Given the description of an element on the screen output the (x, y) to click on. 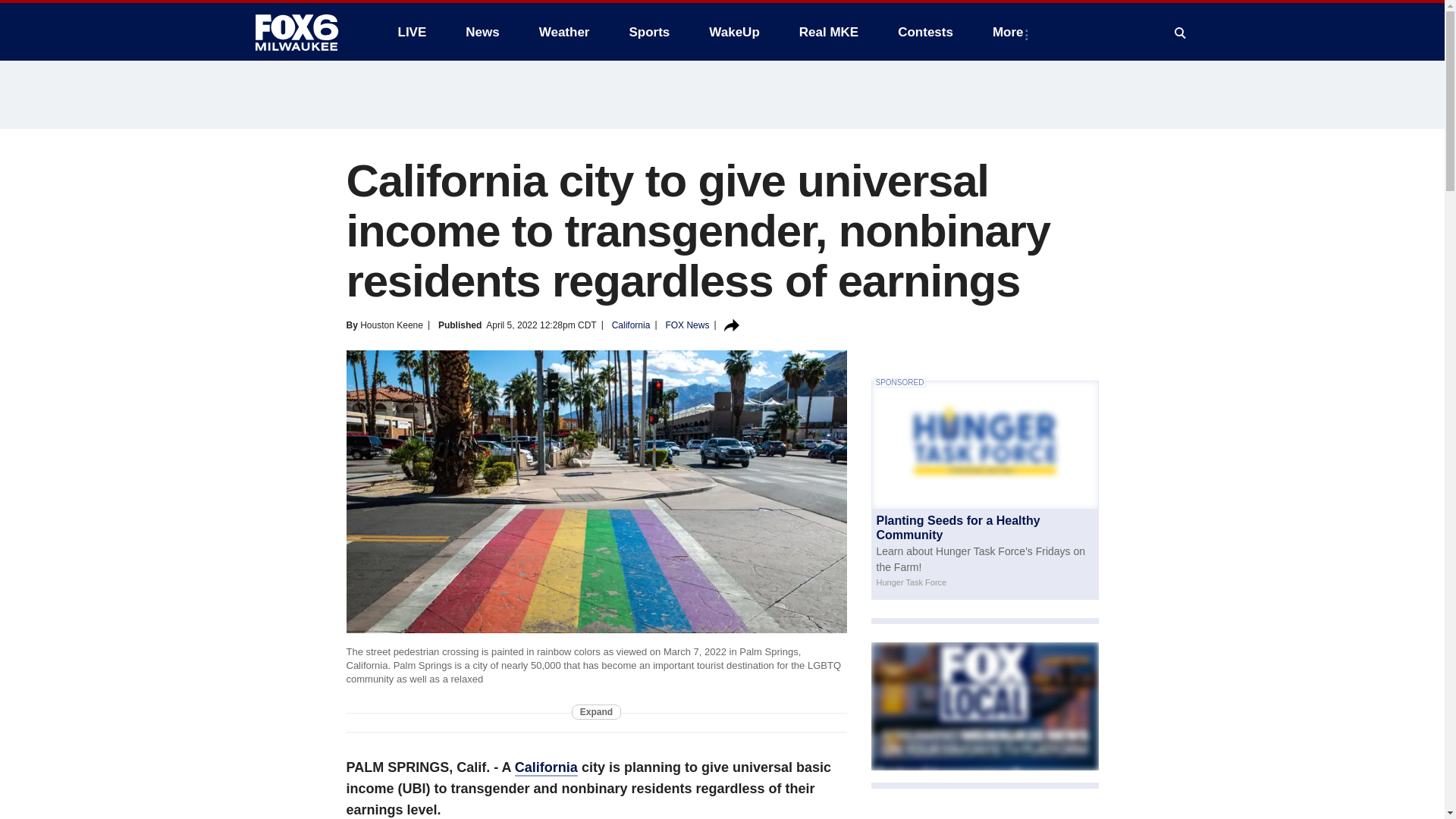
Sports (648, 32)
News (481, 32)
Contests (925, 32)
WakeUp (734, 32)
More (1010, 32)
Real MKE (828, 32)
LIVE (411, 32)
Weather (564, 32)
